Given the description of an element on the screen output the (x, y) to click on. 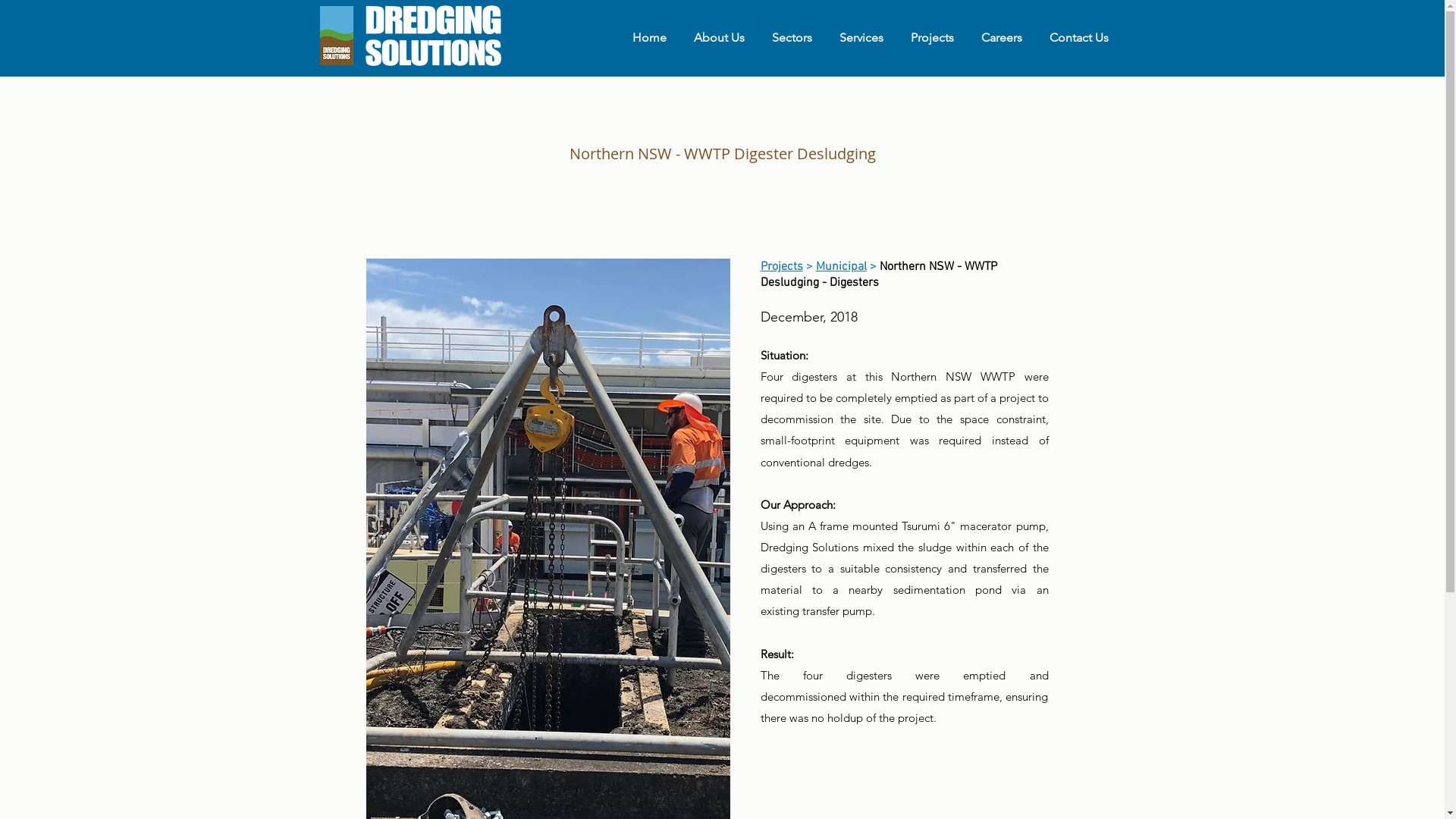
Contact Us Element type: text (1084, 37)
DS Full Logo Horizontal v1.png Element type: hover (431, 35)
About Us Element type: text (724, 37)
Projects Element type: text (780, 266)
Sectors Element type: text (797, 37)
Municipal Element type: text (840, 266)
Services Element type: text (866, 37)
Home Element type: text (655, 37)
Projects Element type: text (937, 37)
Careers Element type: text (1007, 37)
